Given the description of an element on the screen output the (x, y) to click on. 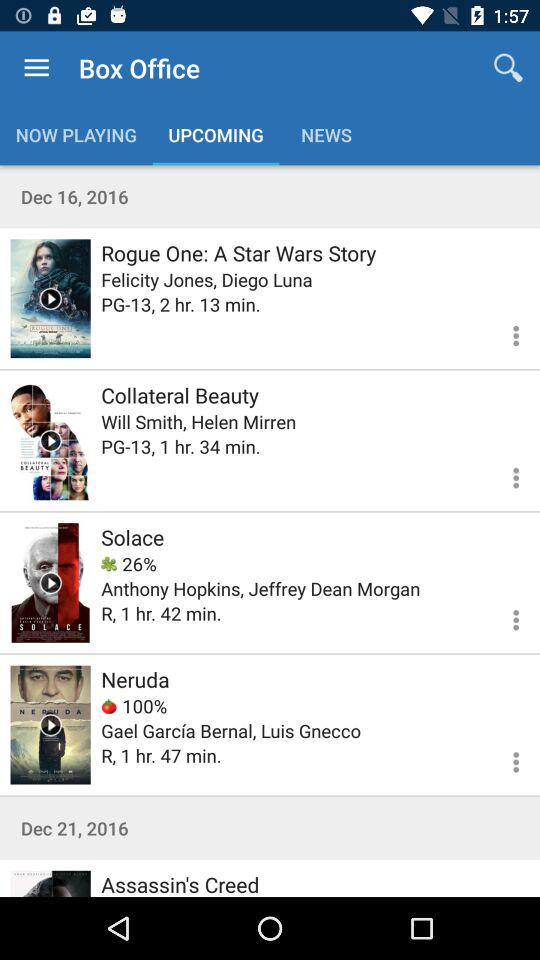
play solace clip (50, 582)
